Given the description of an element on the screen output the (x, y) to click on. 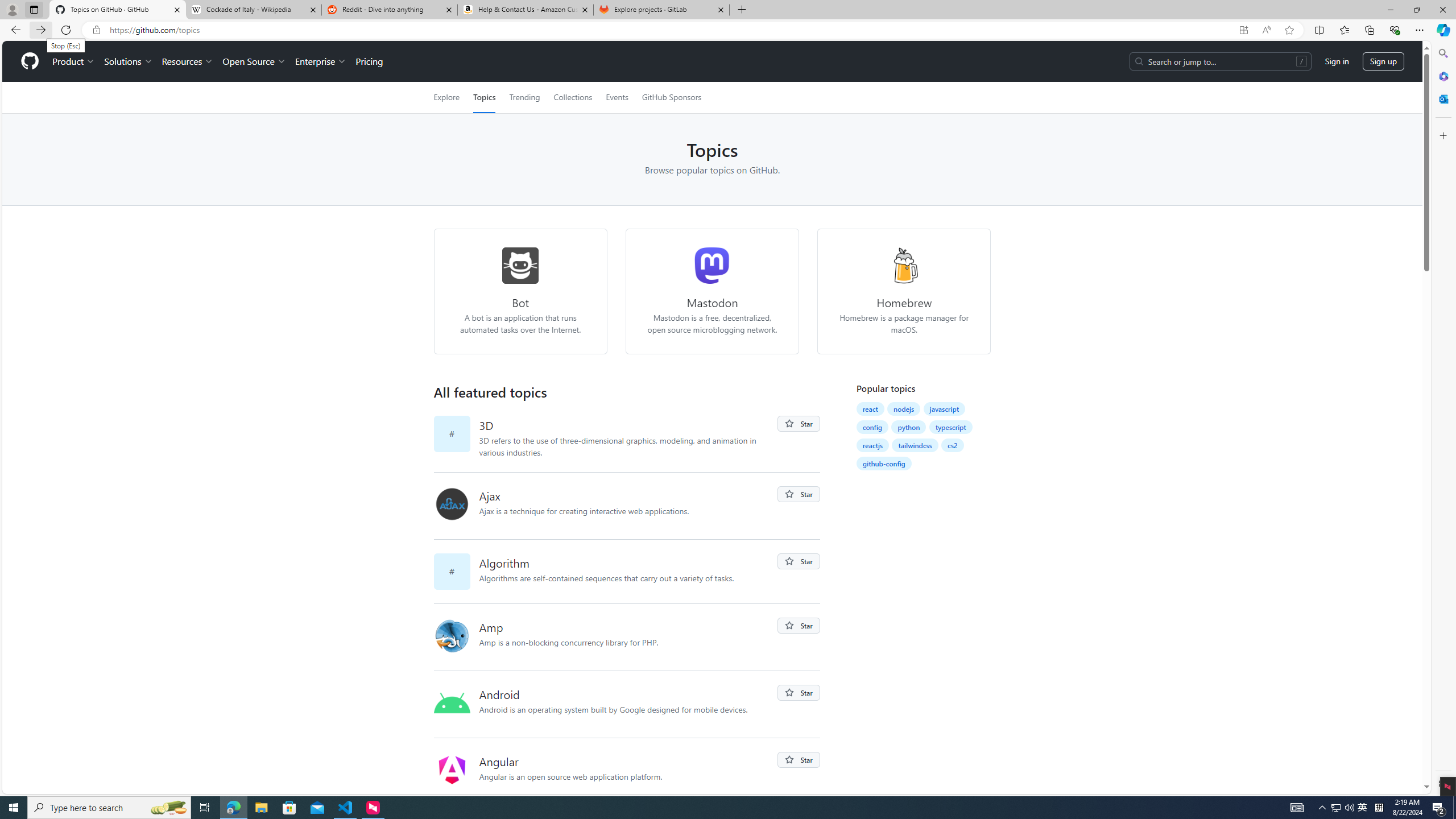
typescript (951, 426)
You must be signed in to star a repository (798, 759)
angular (456, 771)
Solutions (128, 60)
Enterprise (319, 60)
Sign in (1336, 61)
amphp (451, 635)
Sign up (1382, 61)
Homepage (29, 61)
Close Outlook pane (1442, 98)
javascript (944, 408)
